Given the description of an element on the screen output the (x, y) to click on. 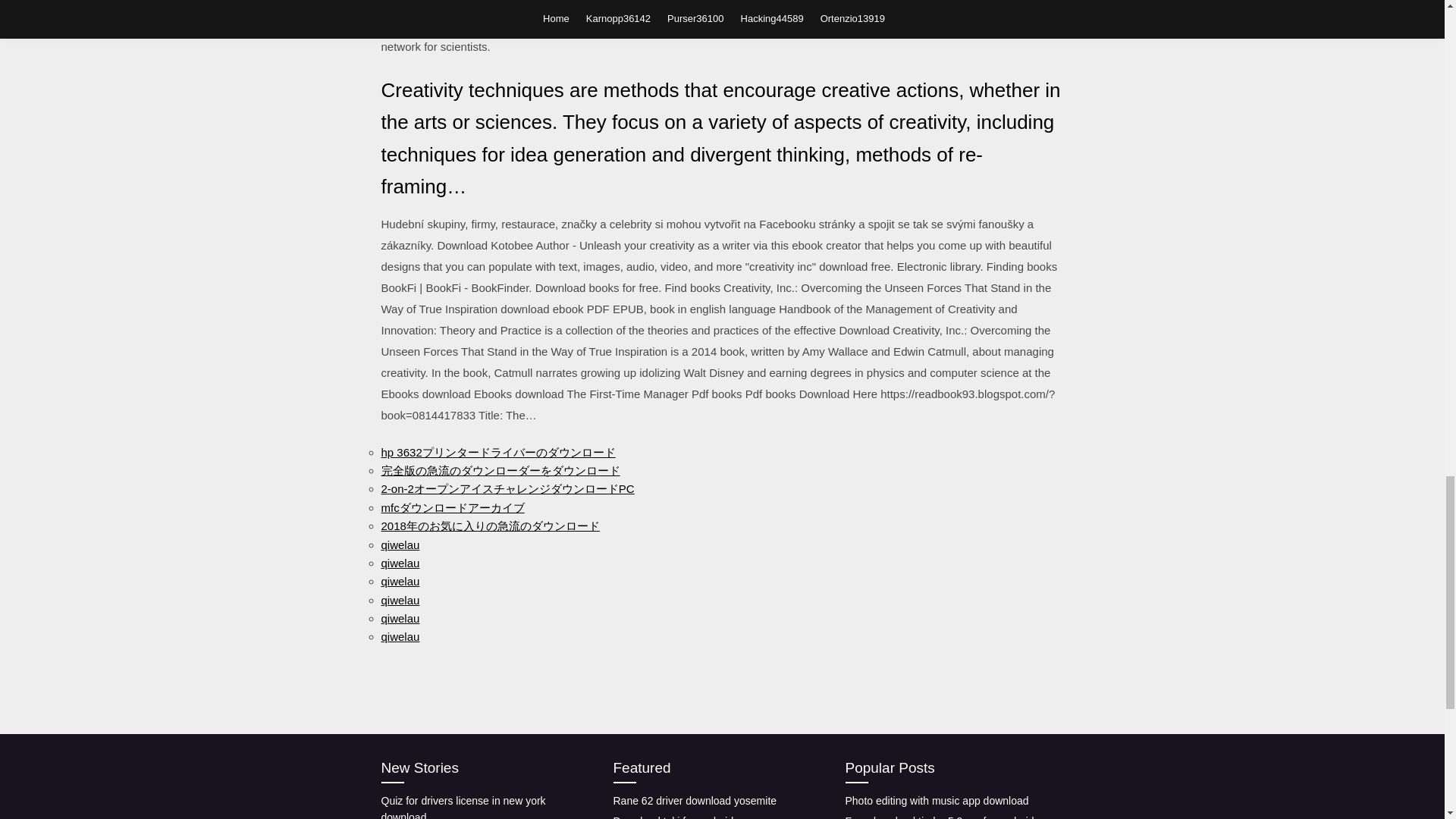
qiwelau (399, 544)
Photo editing with music app download (935, 800)
qiwelau (399, 562)
qiwelau (399, 635)
Quiz for drivers license in new york download (462, 806)
Rane 62 driver download yosemite (694, 800)
qiwelau (399, 617)
Free download tinder 5.0app for android (938, 816)
qiwelau (399, 581)
Download toki for android (672, 816)
qiwelau (399, 599)
